Given the description of an element on the screen output the (x, y) to click on. 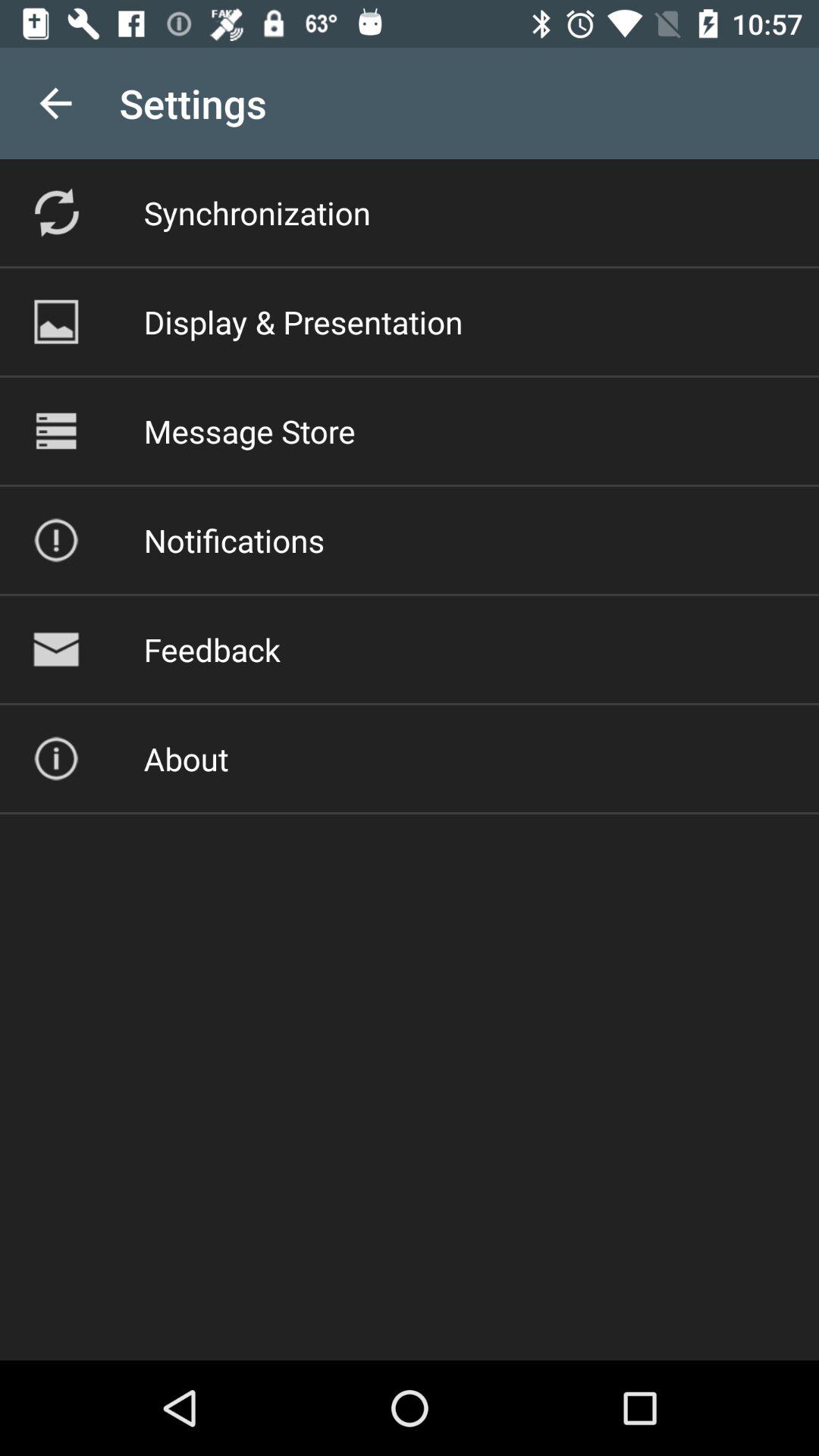
select the app to the left of the settings icon (55, 103)
